Given the description of an element on the screen output the (x, y) to click on. 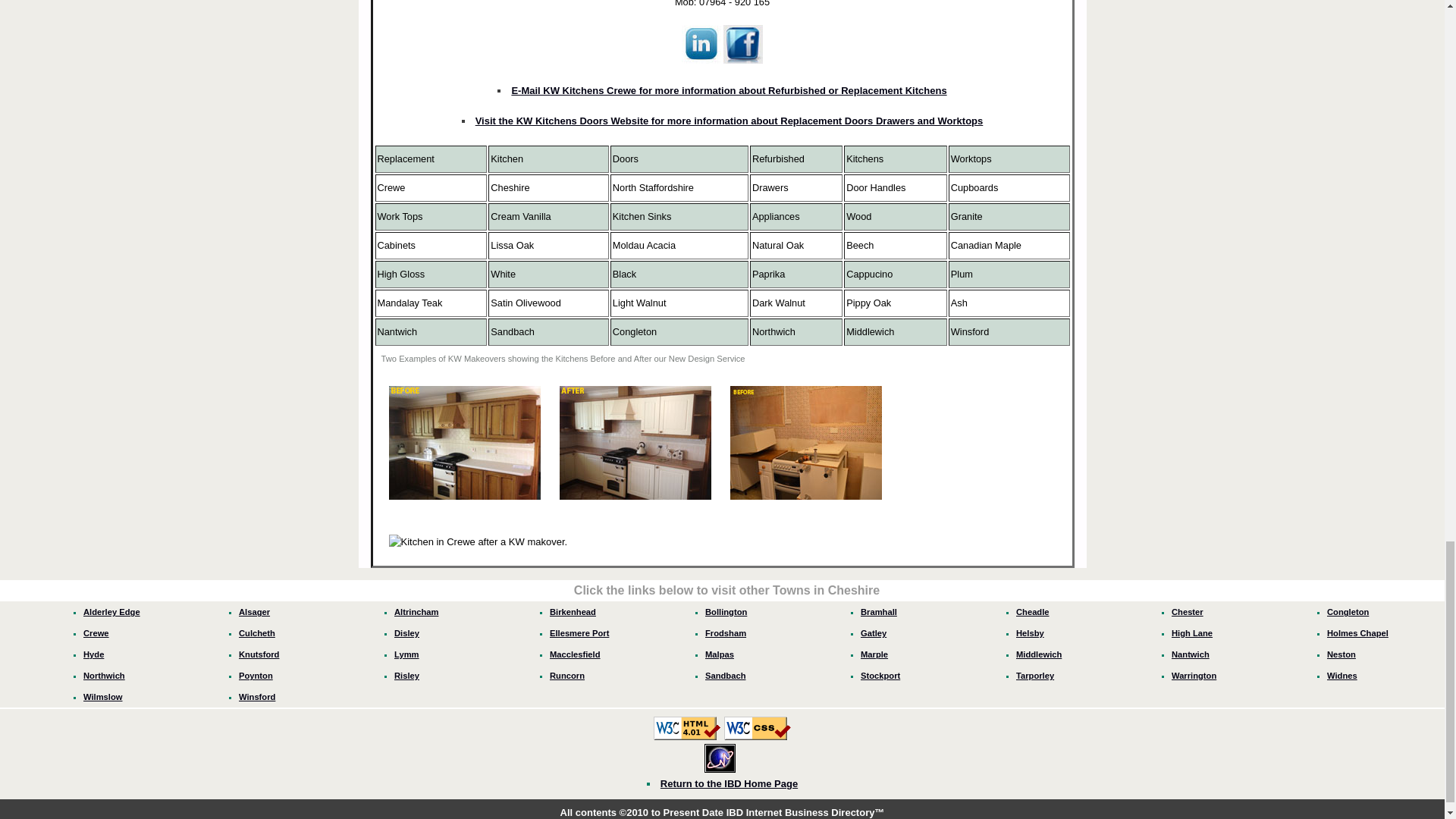
Alderley Edge (110, 611)
Ellesmere Port (579, 633)
Altrincham (416, 611)
Holmes Chapel (1357, 633)
Bramhall (878, 611)
Congleton (1347, 611)
Cheadle (1032, 611)
Malpas (718, 654)
Frodsham (724, 633)
Disley (406, 633)
